Given the description of an element on the screen output the (x, y) to click on. 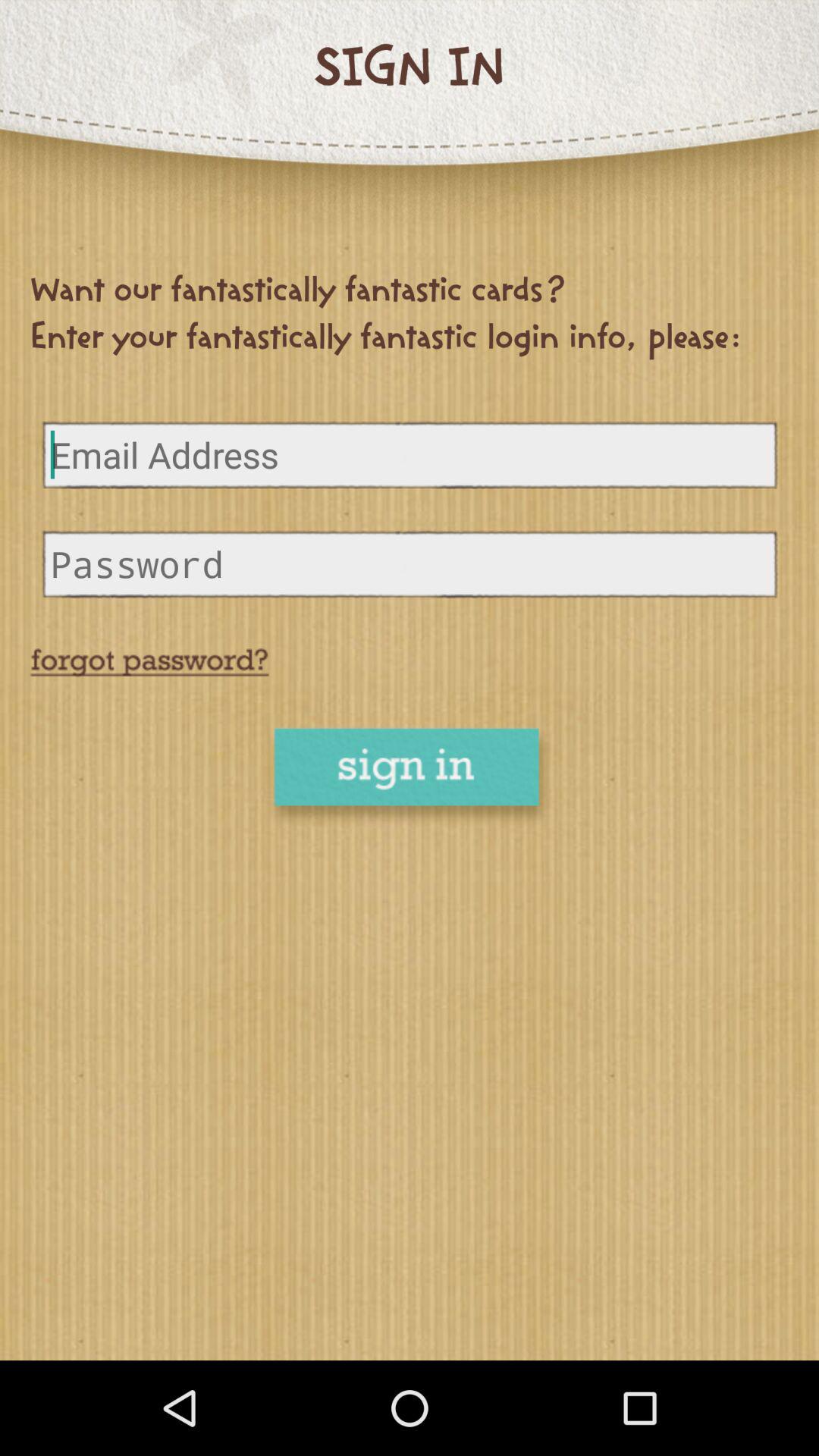
enter email (409, 454)
